Given the description of an element on the screen output the (x, y) to click on. 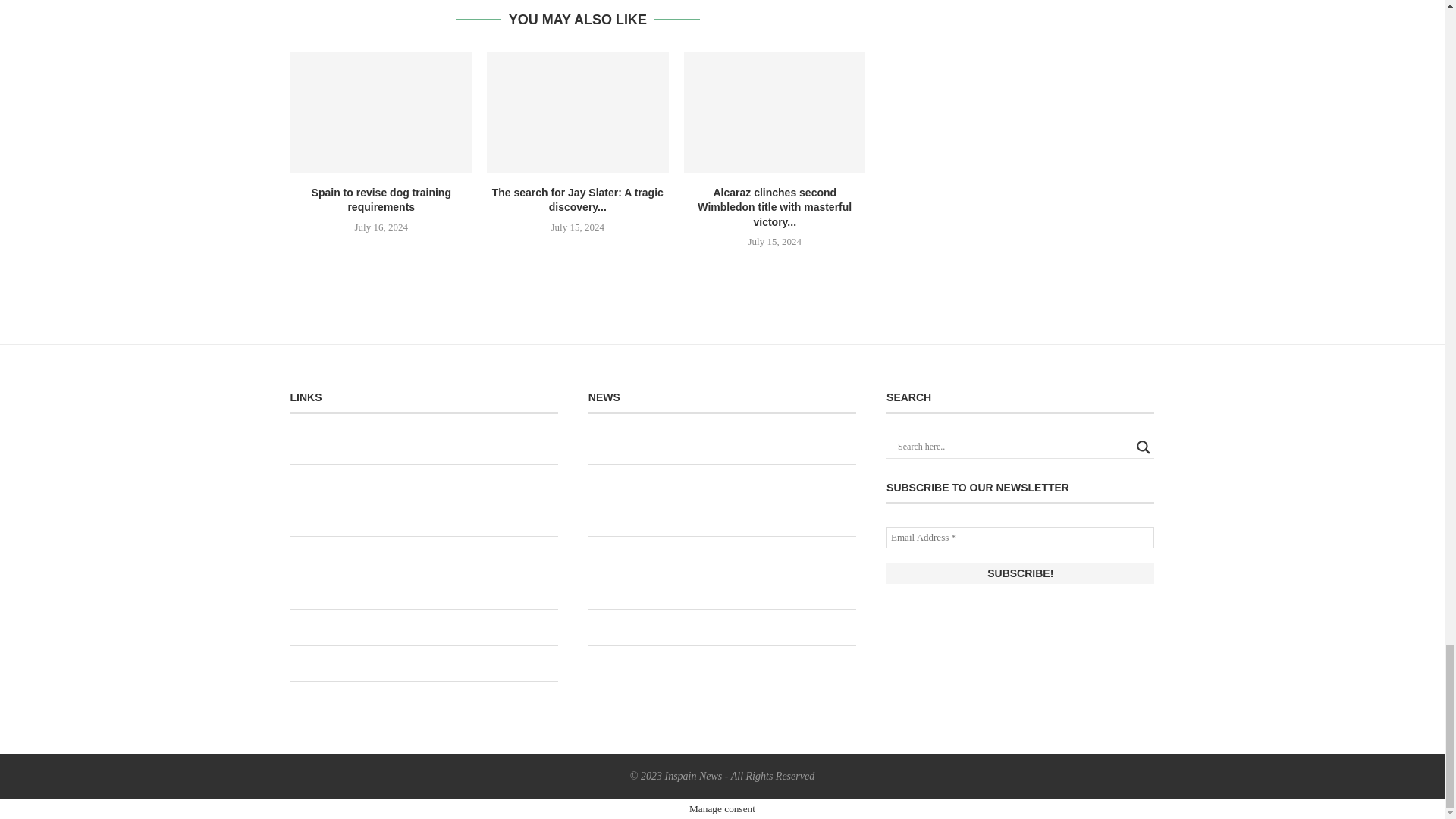
Spain to revise dog training requirements (380, 111)
Subscribe! (1020, 573)
